Given the description of an element on the screen output the (x, y) to click on. 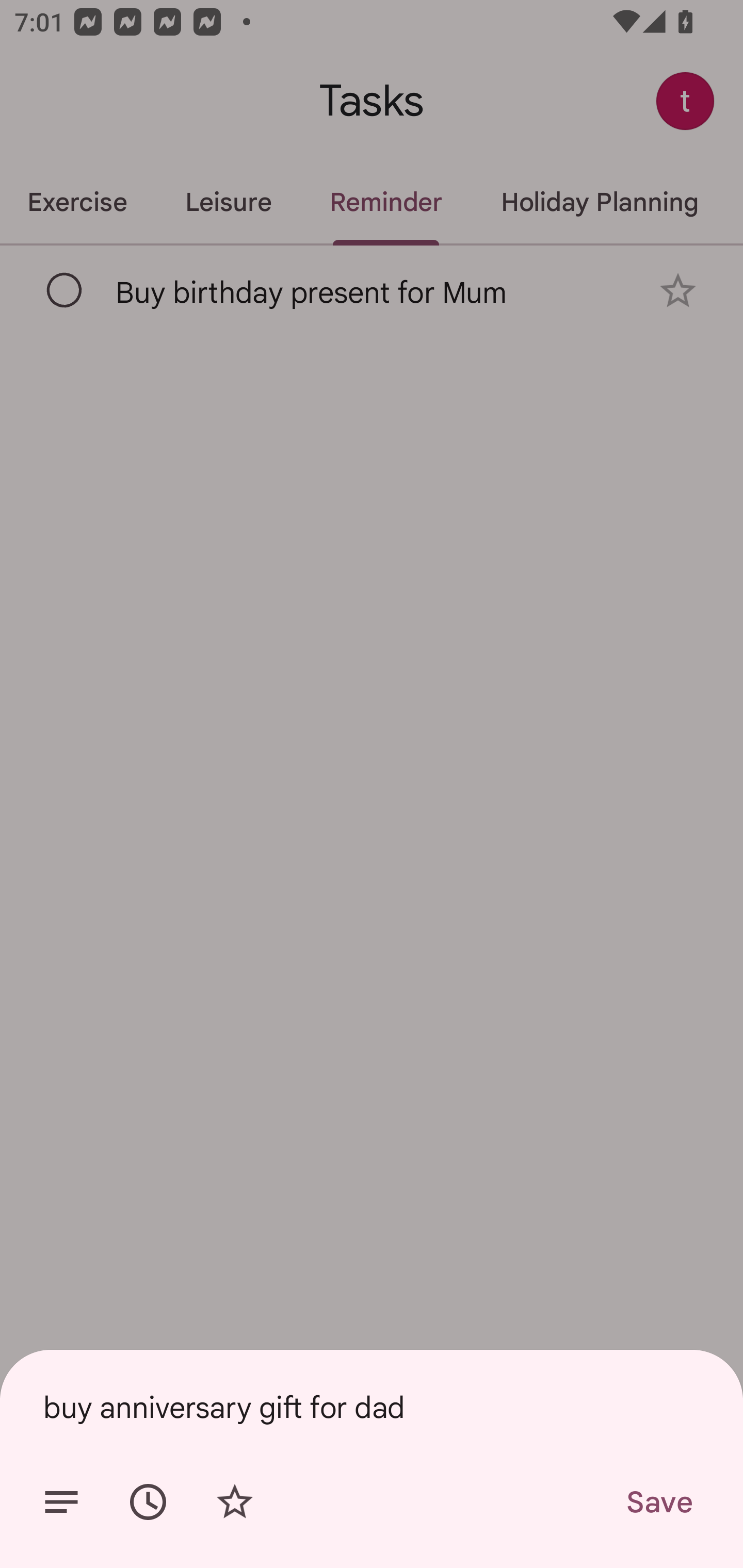
buy anniversary gift for dad (371, 1407)
Save (659, 1501)
Add details (60, 1501)
Set date/time (147, 1501)
Add star (234, 1501)
